Given the description of an element on the screen output the (x, y) to click on. 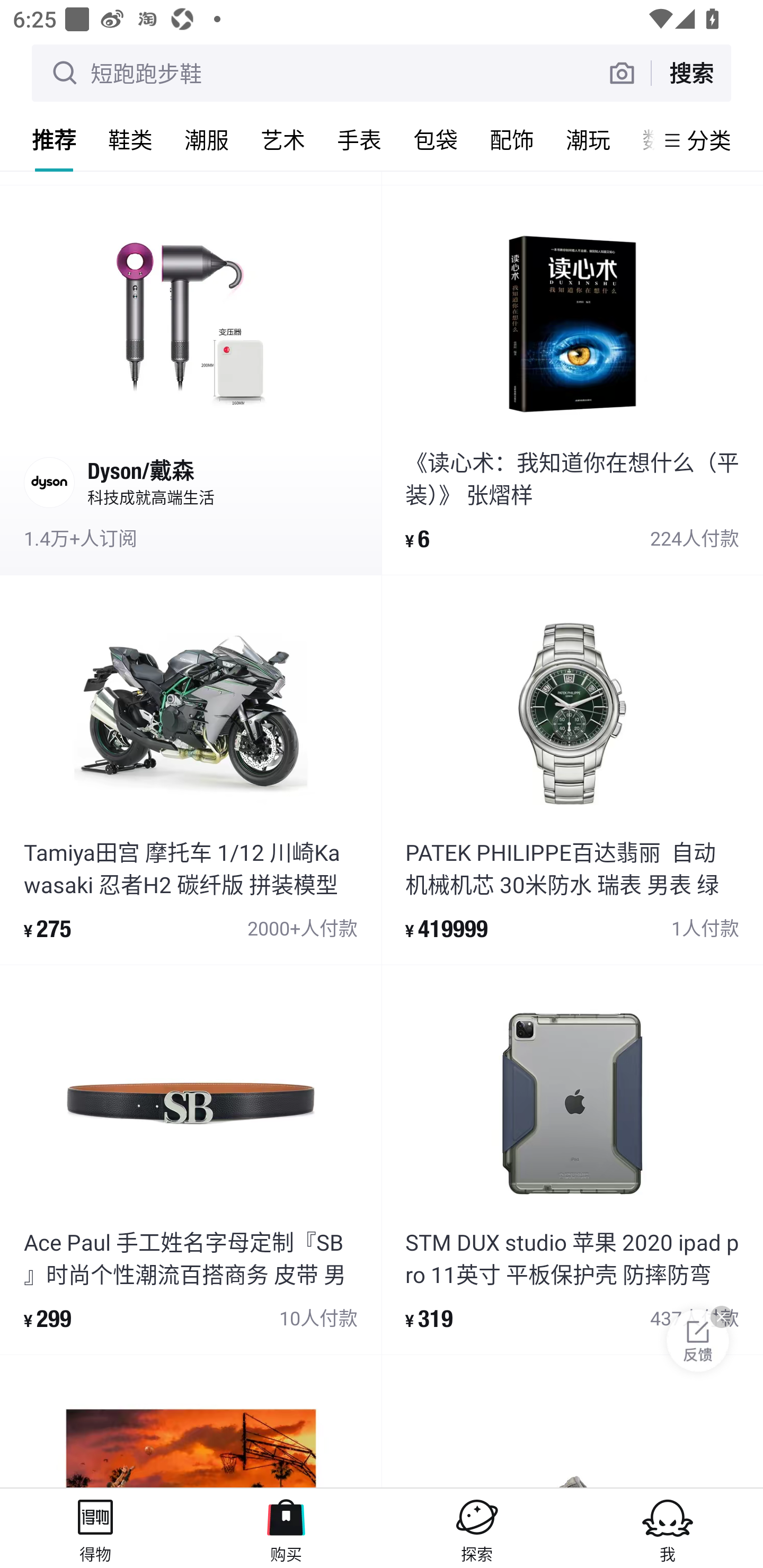
搜索 (690, 72)
推荐 (54, 139)
鞋类 (130, 139)
潮服 (206, 139)
艺术 (282, 139)
手表 (359, 139)
包袋 (435, 139)
配饰 (511, 139)
潮玩 (588, 139)
分类 (708, 139)
Dyson/戴森 科技成就高端生活 1.4万+人订阅 (190, 380)
product_item 《读心术：我知道你在想什么（平
装）》 张熠样 ¥ 6 224人付款 (572, 380)
得物 (95, 1528)
购买 (285, 1528)
探索 (476, 1528)
我 (667, 1528)
